Given the description of an element on the screen output the (x, y) to click on. 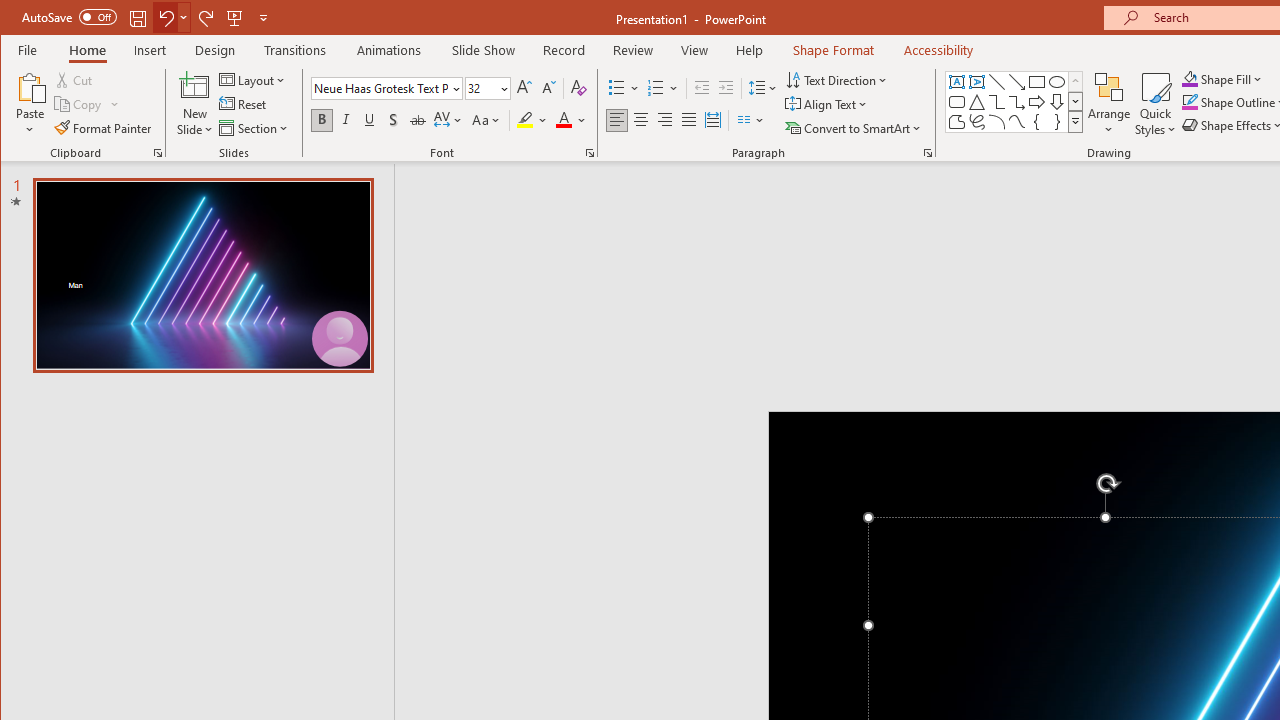
Arrow: Right (1036, 102)
Slide (203, 275)
Shapes (1074, 121)
Character Spacing (449, 119)
Right Brace (1057, 121)
Increase Font Size (524, 88)
Numbering (655, 88)
Center (640, 119)
Shape Fill Orange, Accent 2 (1189, 78)
Office Clipboard... (157, 152)
Rectangle: Rounded Corners (956, 102)
Connector: Elbow Arrow (1016, 102)
Copy (87, 103)
